Given the description of an element on the screen output the (x, y) to click on. 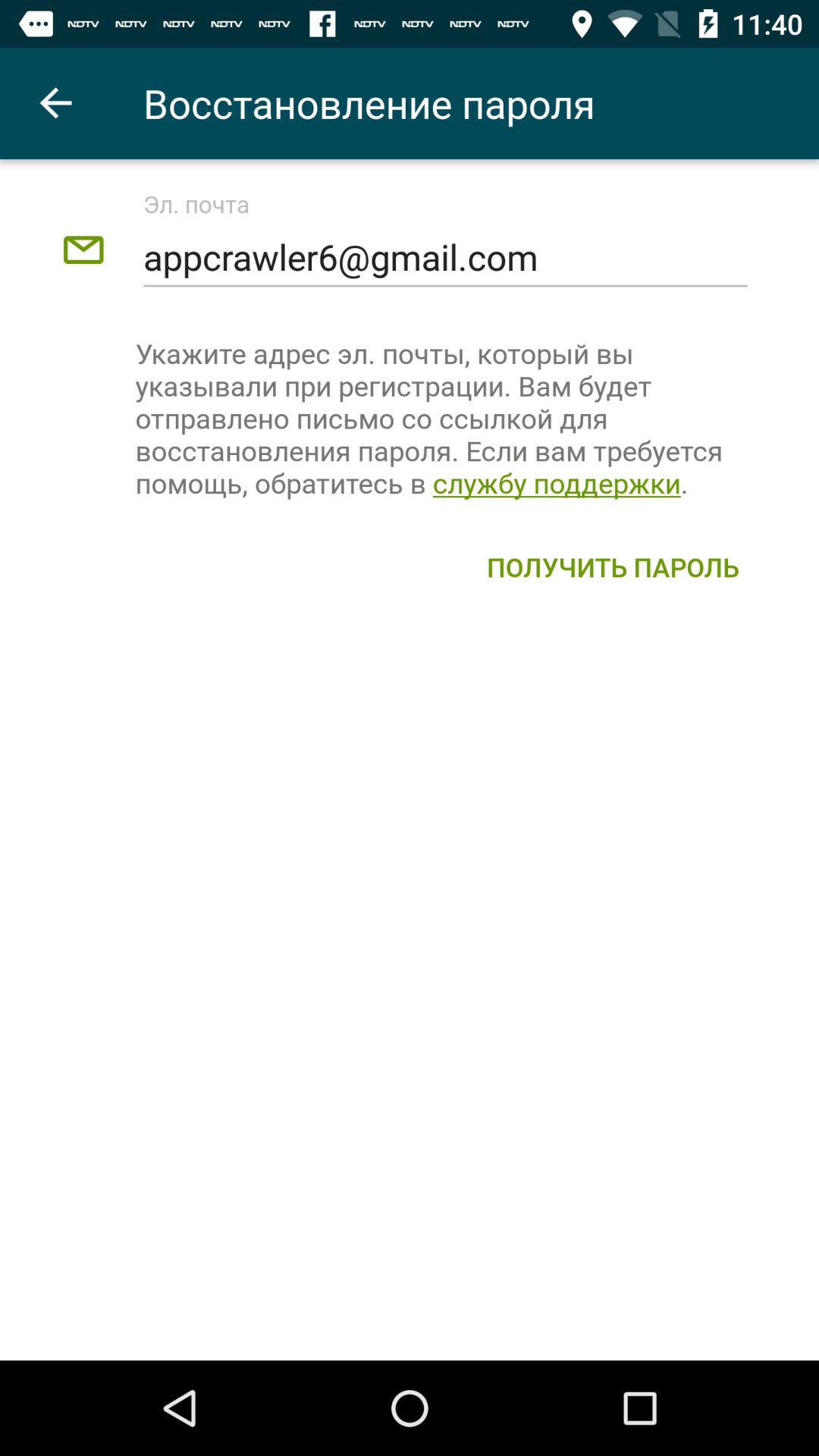
launch item on the right (612, 566)
